Given the description of an element on the screen output the (x, y) to click on. 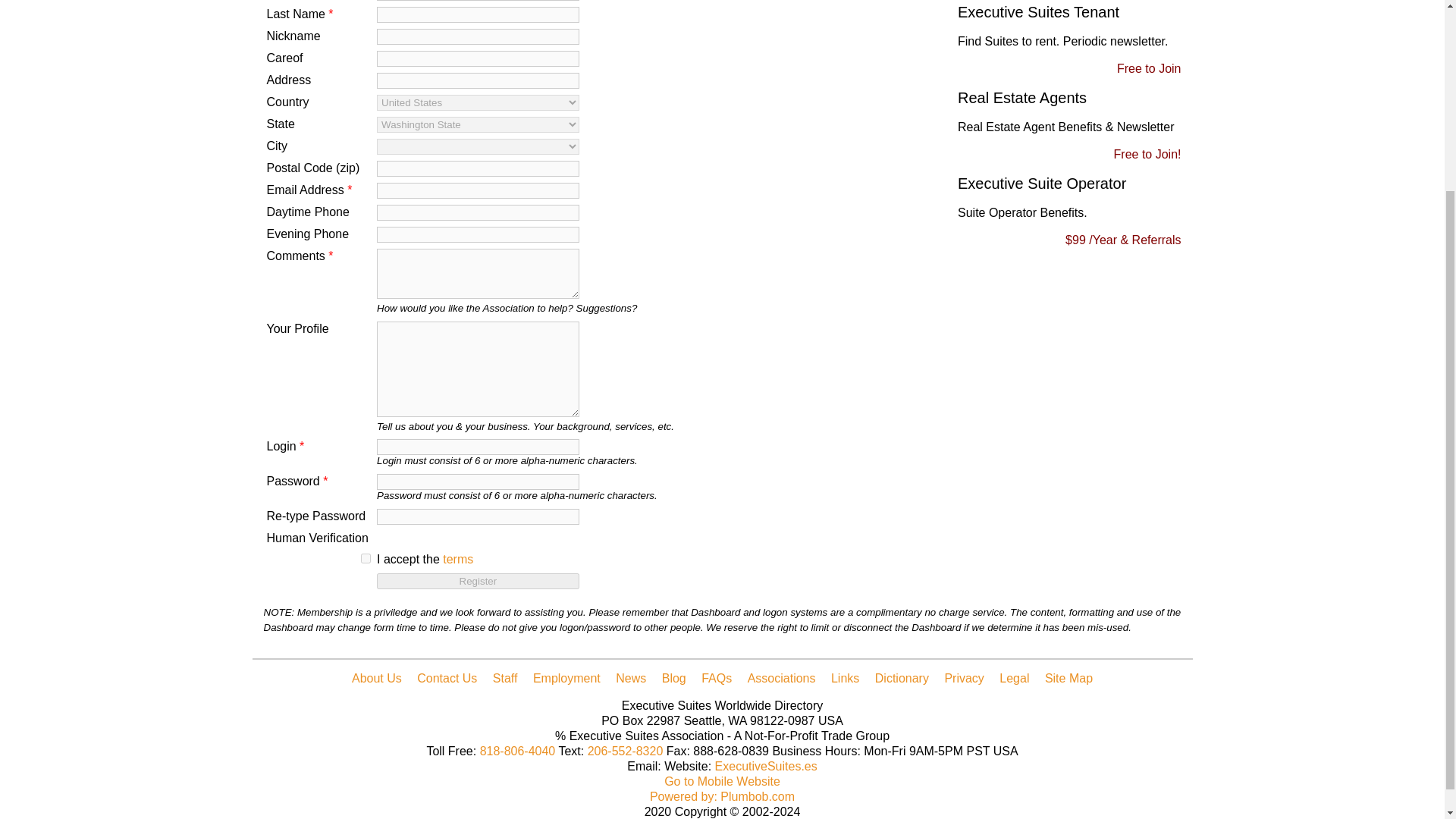
818-806-4040 (518, 750)
Links (845, 677)
ExecutiveSuites.es (765, 766)
Powered by: Plumbob.com (721, 796)
Register (478, 580)
Go to Mobile Website (721, 780)
Privacy (963, 677)
Dictionary (901, 677)
Staff (505, 677)
About Us (376, 677)
206-552-8320 (625, 750)
Associations (781, 677)
FAQs (716, 677)
terms (457, 558)
Contact Us (446, 677)
